Given the description of an element on the screen output the (x, y) to click on. 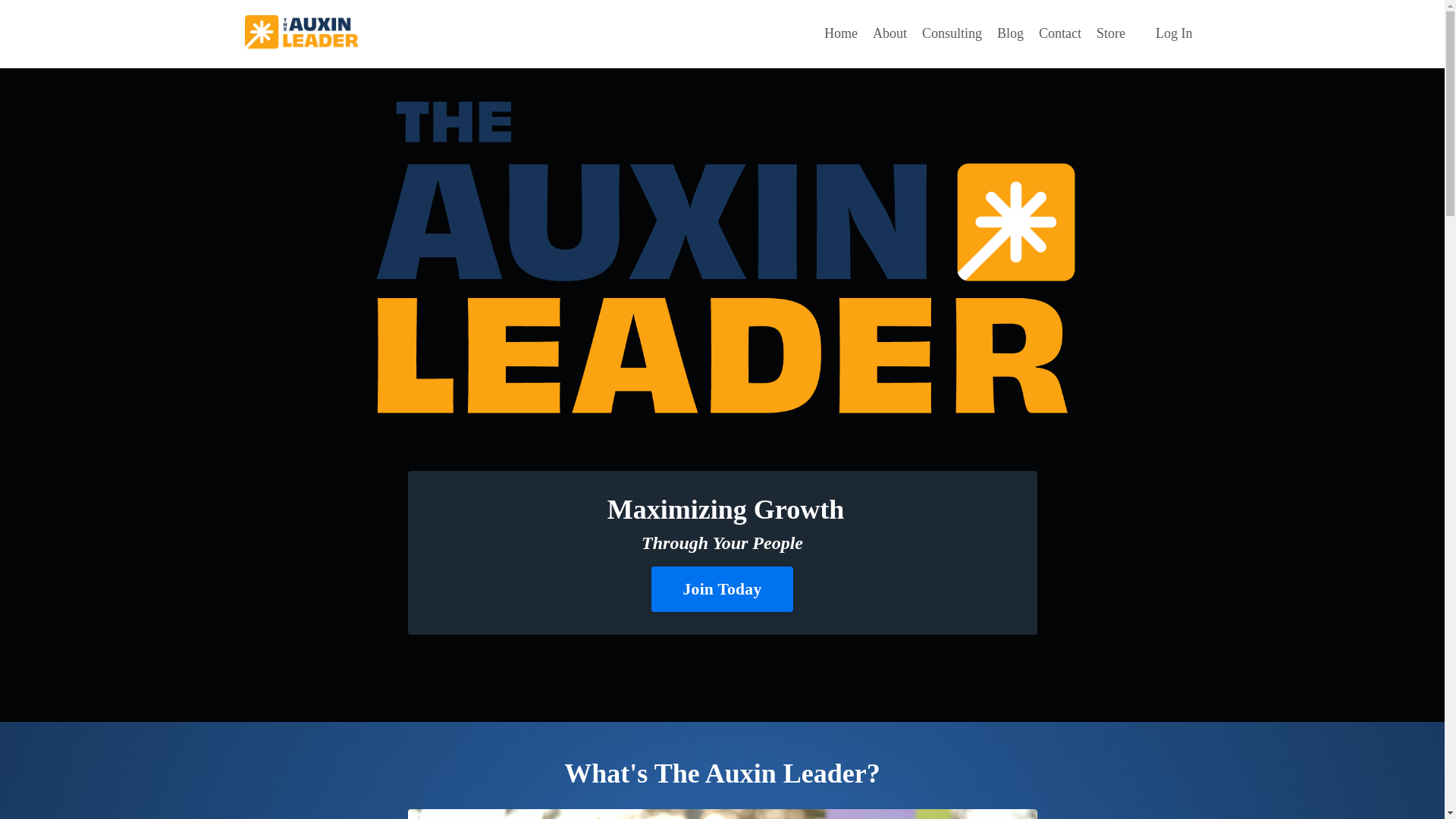
About (889, 33)
Join Today (721, 588)
Consulting (951, 33)
Blog (1010, 33)
Contact (1060, 33)
Store (1110, 33)
Home (840, 33)
Log In (1174, 32)
